Given the description of an element on the screen output the (x, y) to click on. 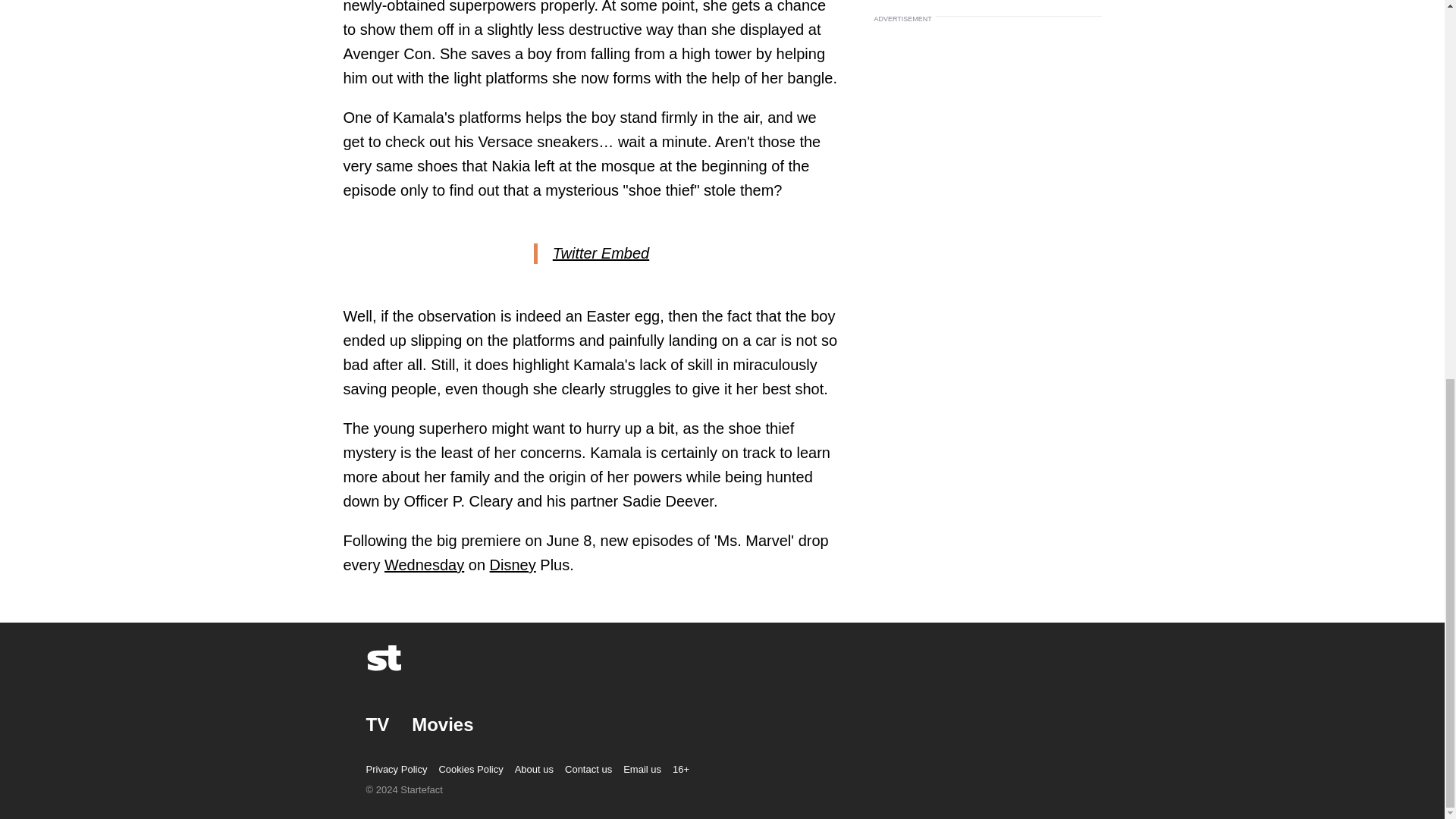
Disney (512, 564)
Wednesday (424, 564)
Twitter Embed (601, 252)
